Given the description of an element on the screen output the (x, y) to click on. 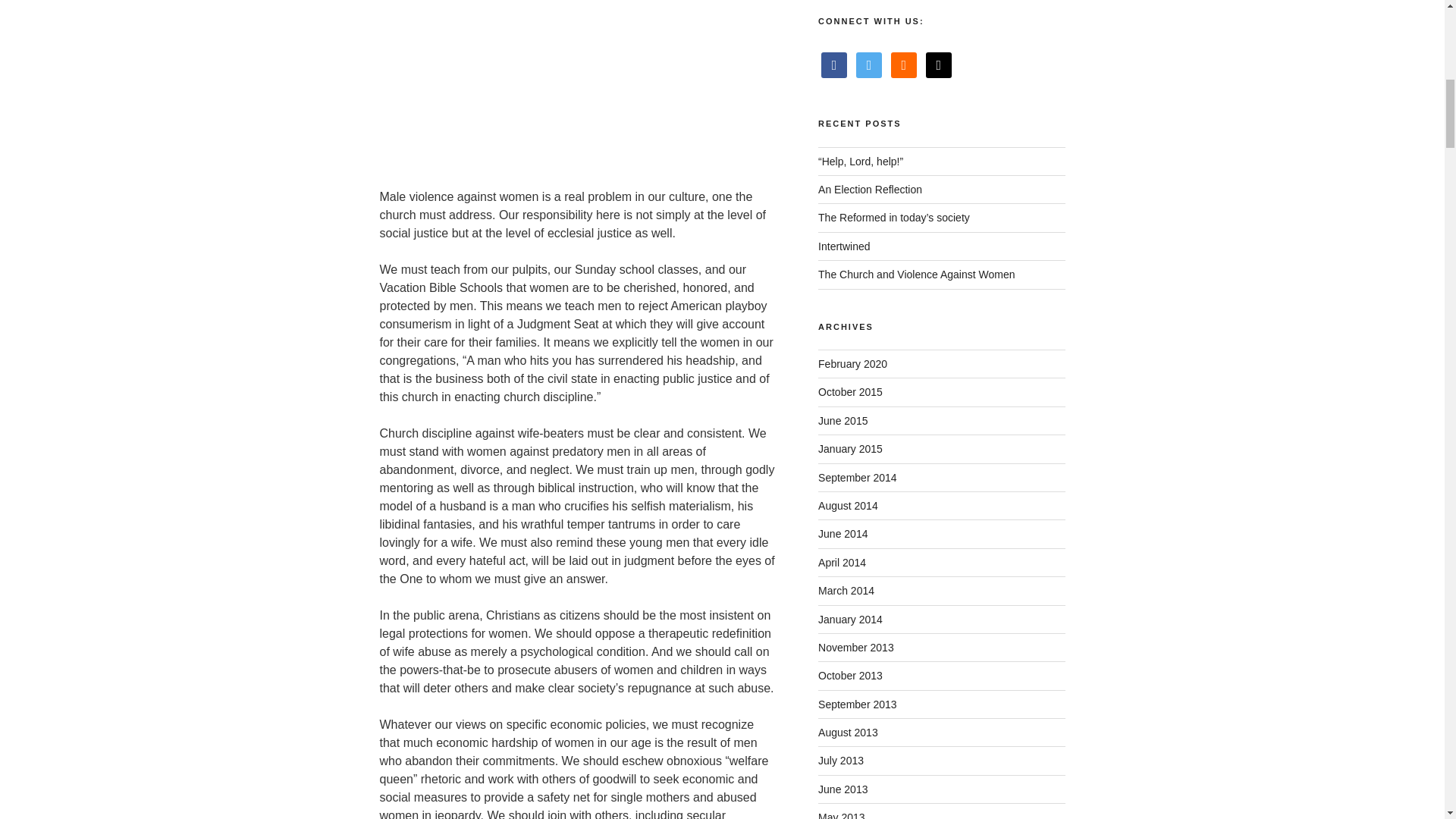
twitter (869, 64)
mail (939, 64)
Default Label (939, 64)
rss (904, 64)
Twitter (869, 64)
facebook (834, 64)
Default Label (904, 64)
Facebook (834, 64)
